Given the description of an element on the screen output the (x, y) to click on. 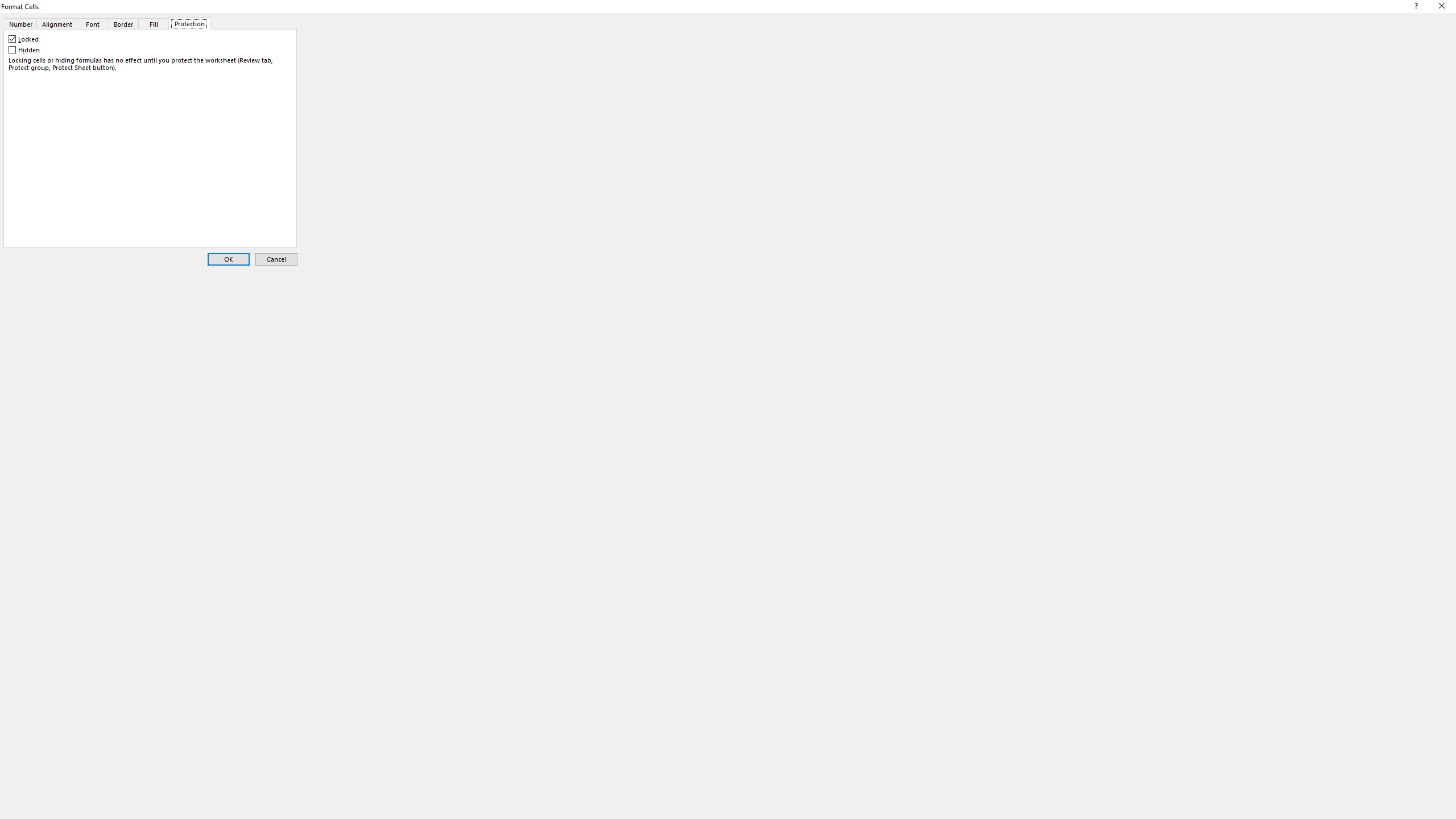
Border (122, 23)
Cancel (276, 259)
Fill (153, 23)
Font (92, 23)
OK (228, 259)
Locked (24, 38)
Number (19, 23)
Hidden (25, 49)
Context help (1415, 8)
Protection (188, 23)
Alignment (56, 23)
